Given the description of an element on the screen output the (x, y) to click on. 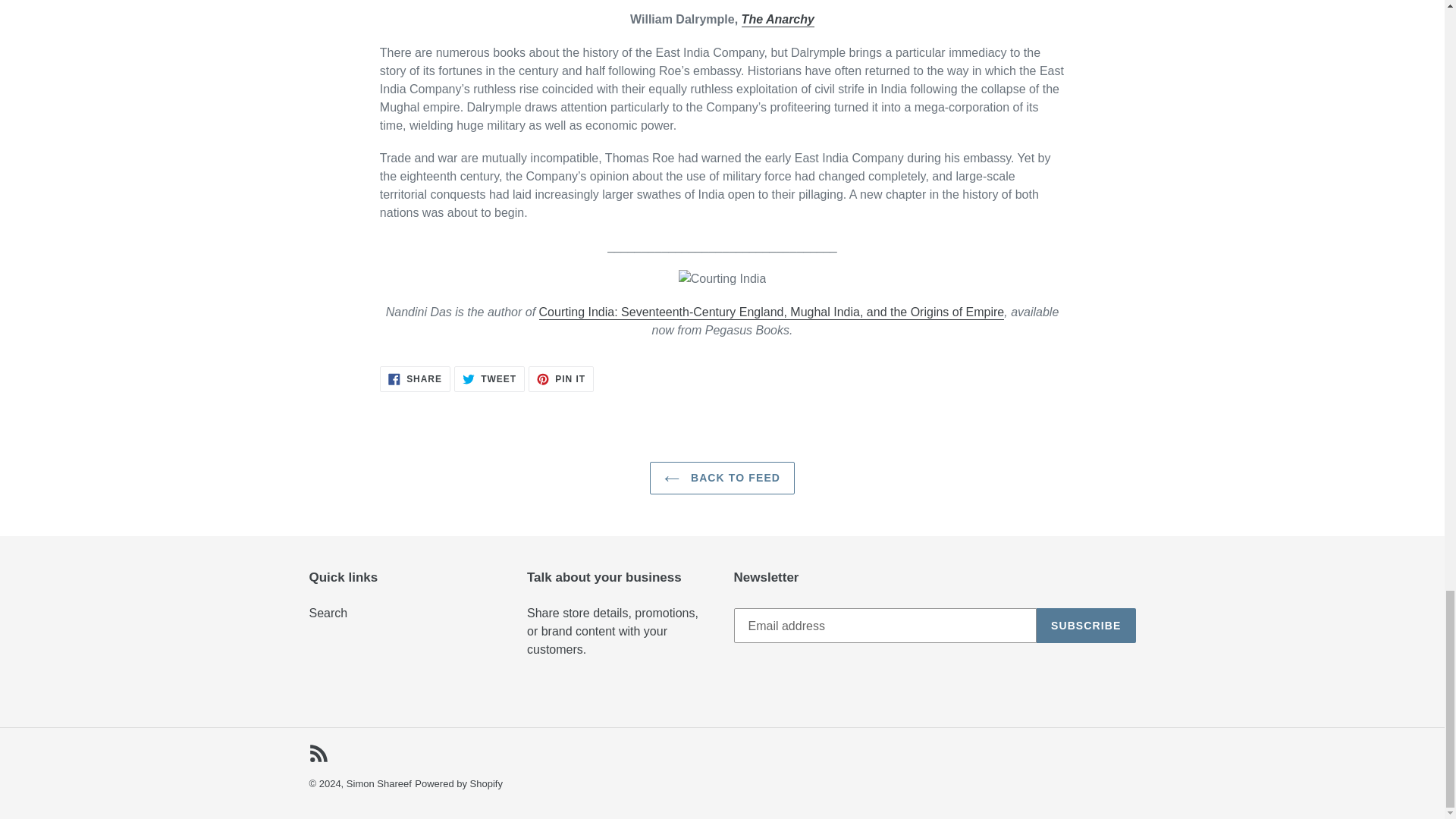
BACK TO FEED (721, 477)
Search (327, 612)
The Anarchy (561, 379)
Simon Shareef (777, 20)
RSS (414, 379)
Powered by Shopify (489, 379)
SUBSCRIBE (379, 783)
